Given the description of an element on the screen output the (x, y) to click on. 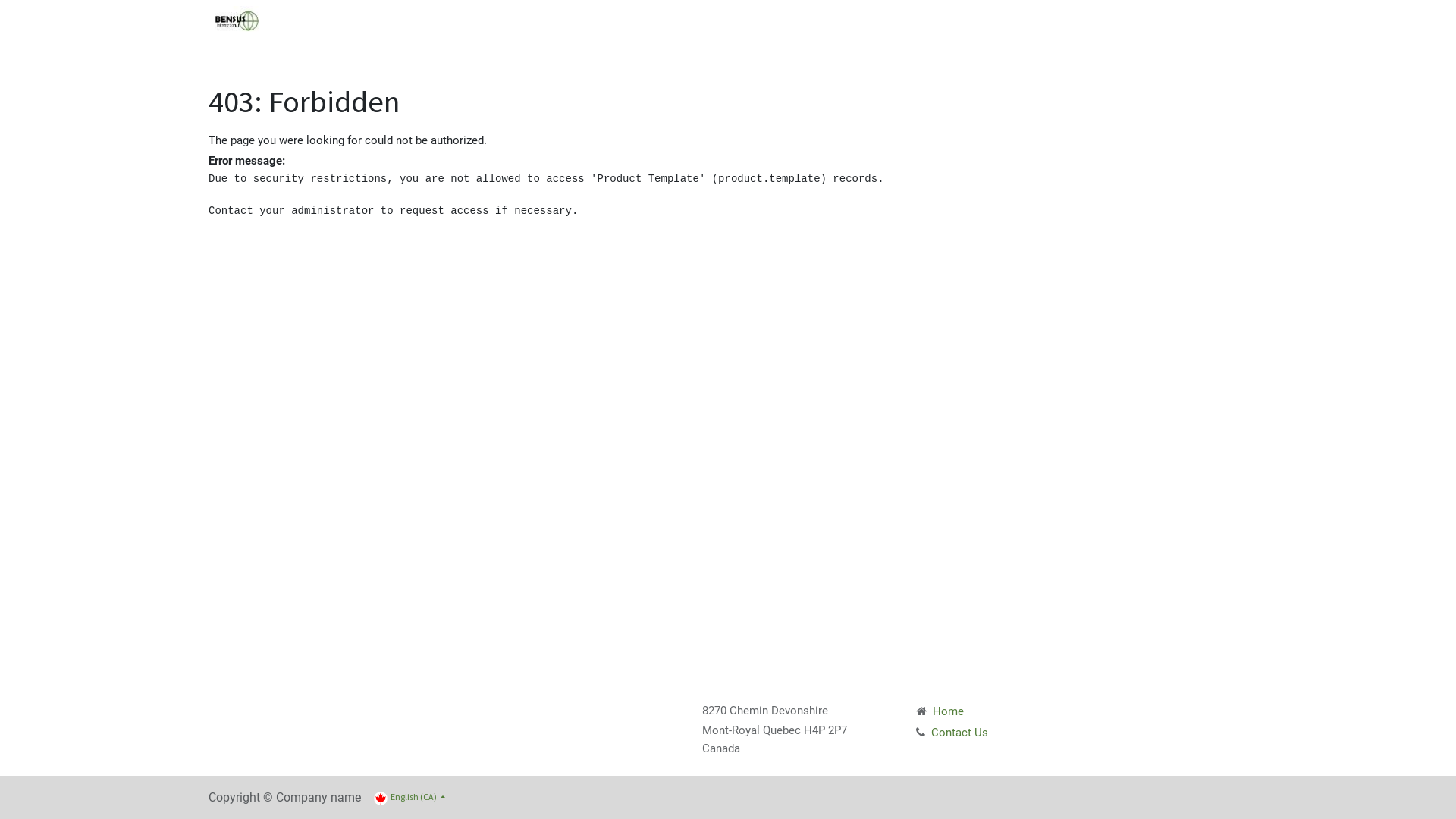
English (CA) Element type: text (409, 797)
 Home Element type: text (946, 711)
Bensus Imports Element type: hover (236, 21)
 Contact Us    Element type: text (962, 732)
